Given the description of an element on the screen output the (x, y) to click on. 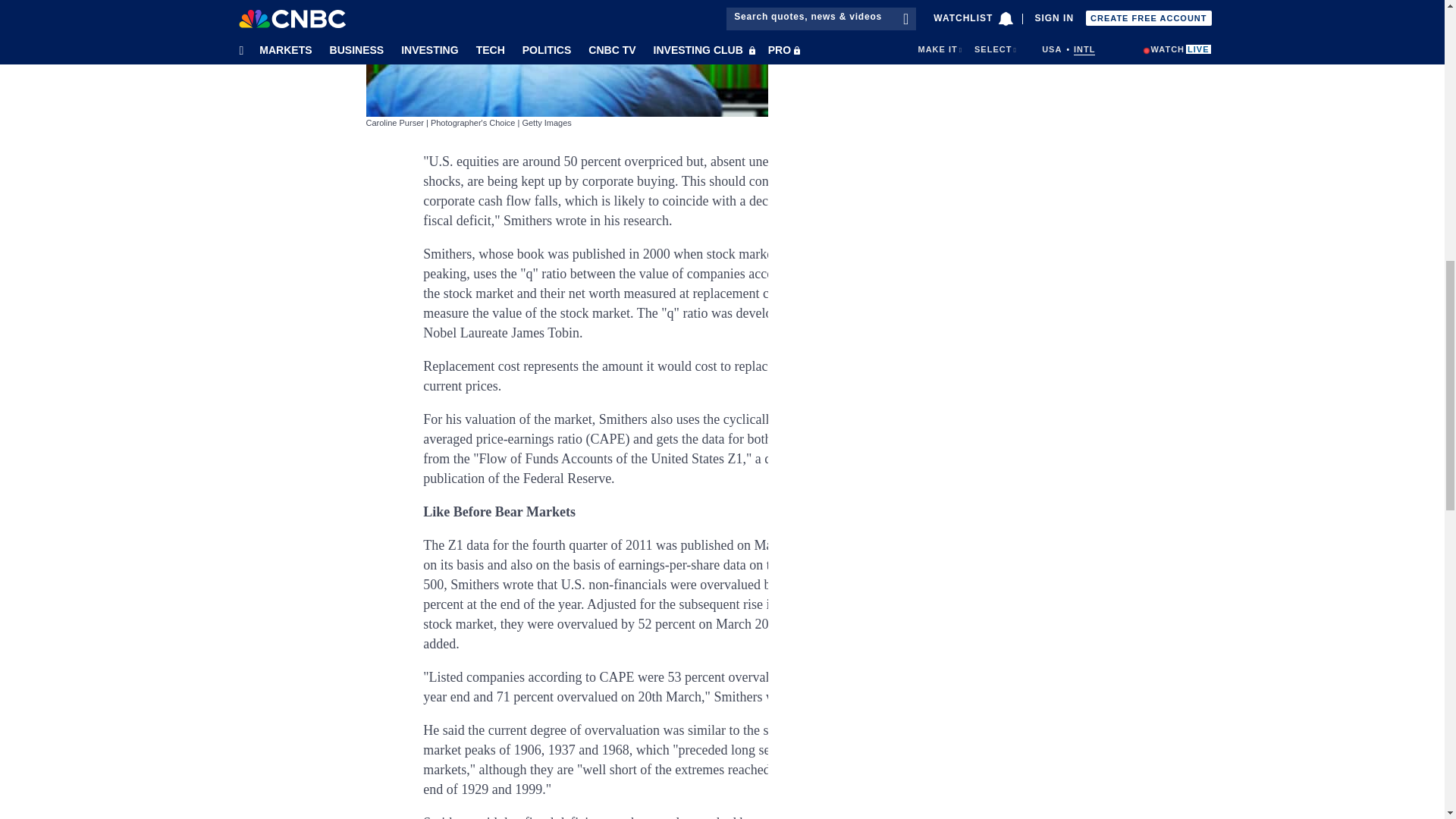
3rd party ad content (945, 74)
